Given the description of an element on the screen output the (x, y) to click on. 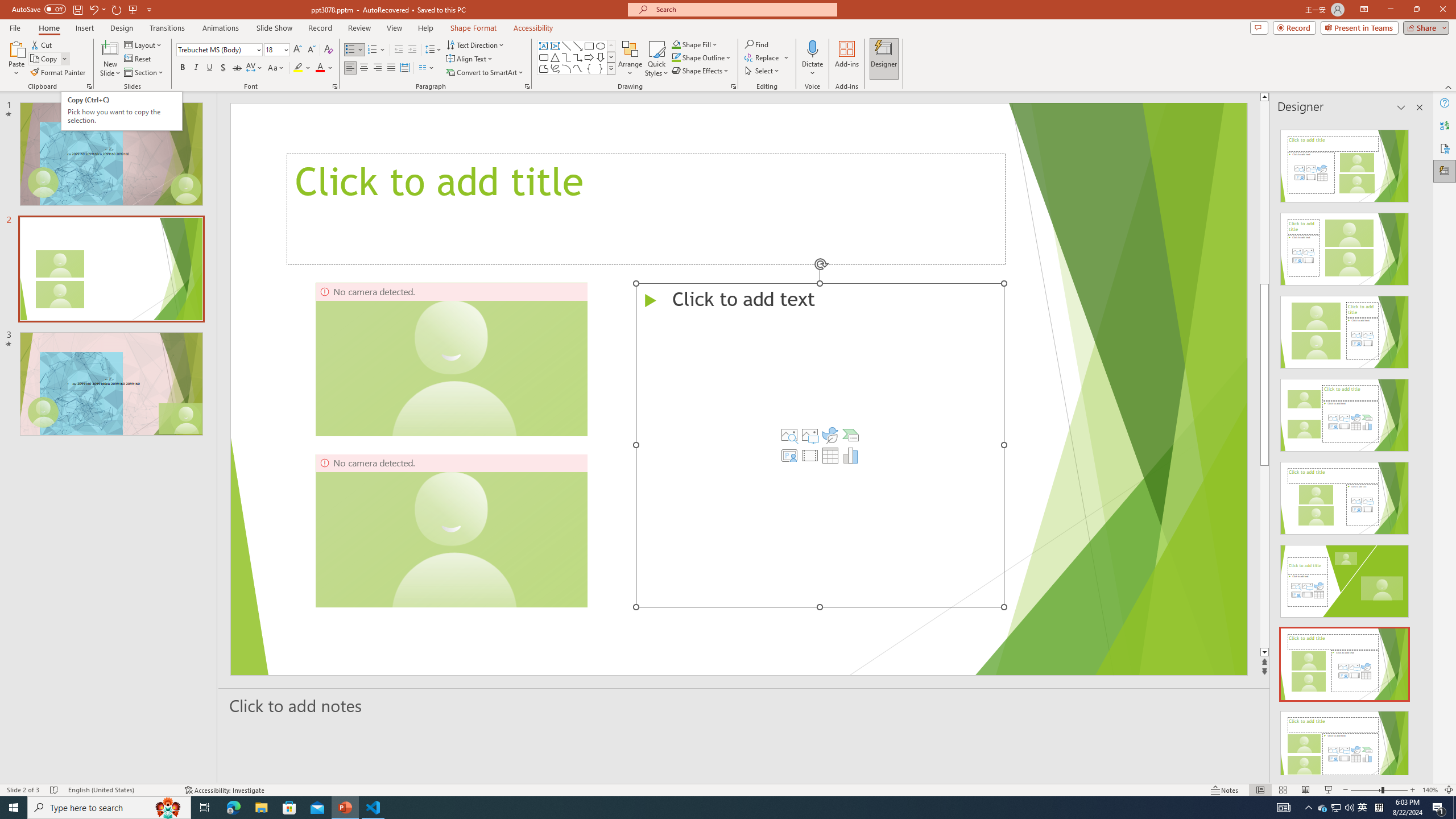
Shape Fill Dark Green, Accent 2 (675, 44)
Insert an Icon (830, 434)
